Given the description of an element on the screen output the (x, y) to click on. 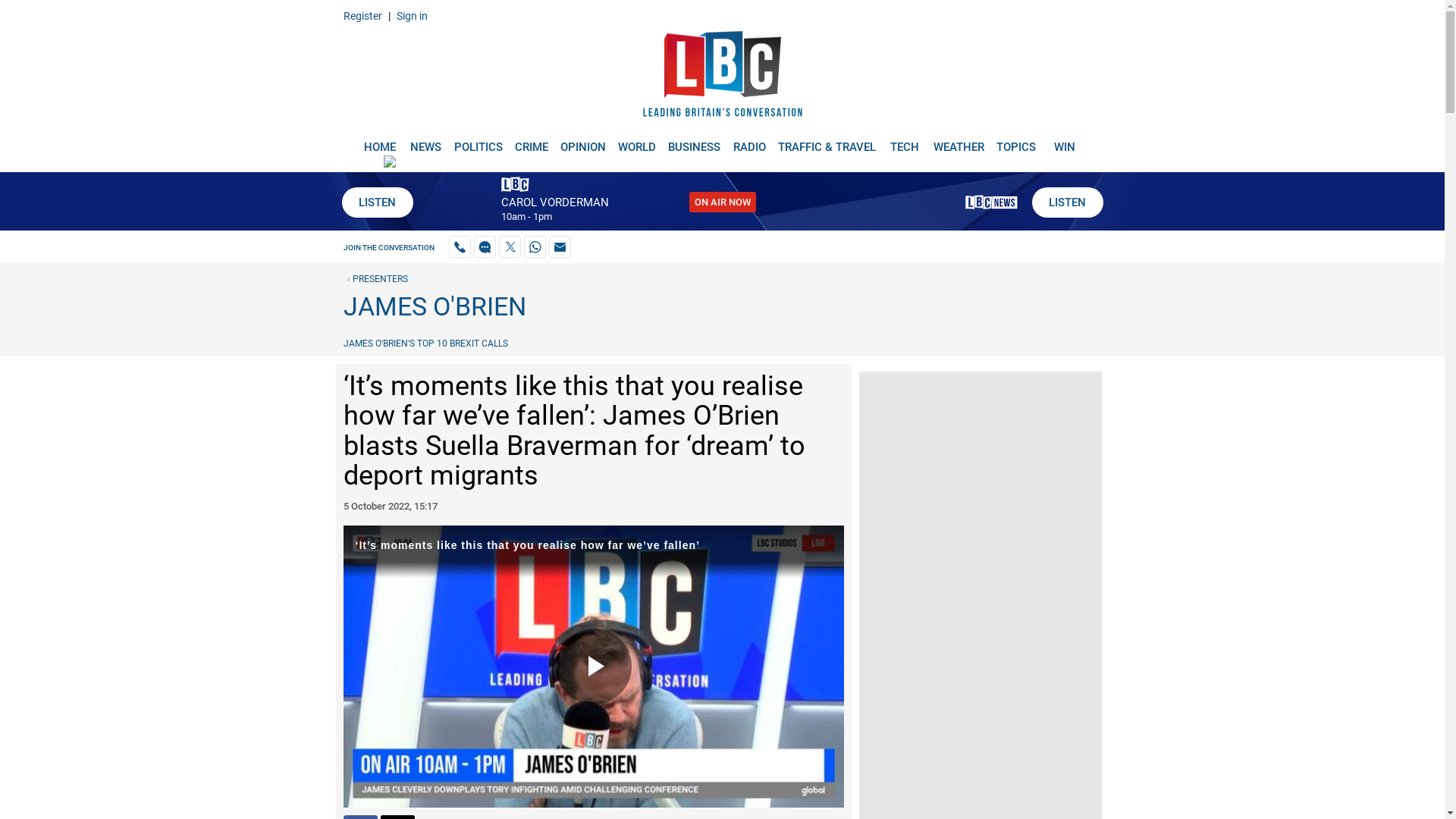
TOPICS (1016, 140)
OPINION (582, 140)
TECH (904, 140)
PRESENTERS (374, 278)
LBC (722, 77)
WIN (1064, 140)
LISTEN (1066, 202)
RADIO (748, 140)
LISTEN (376, 202)
HOME (379, 140)
POLITICS (478, 140)
WEATHER (958, 140)
NEWS (425, 140)
WORLD (636, 140)
Register (361, 15)
